Given the description of an element on the screen output the (x, y) to click on. 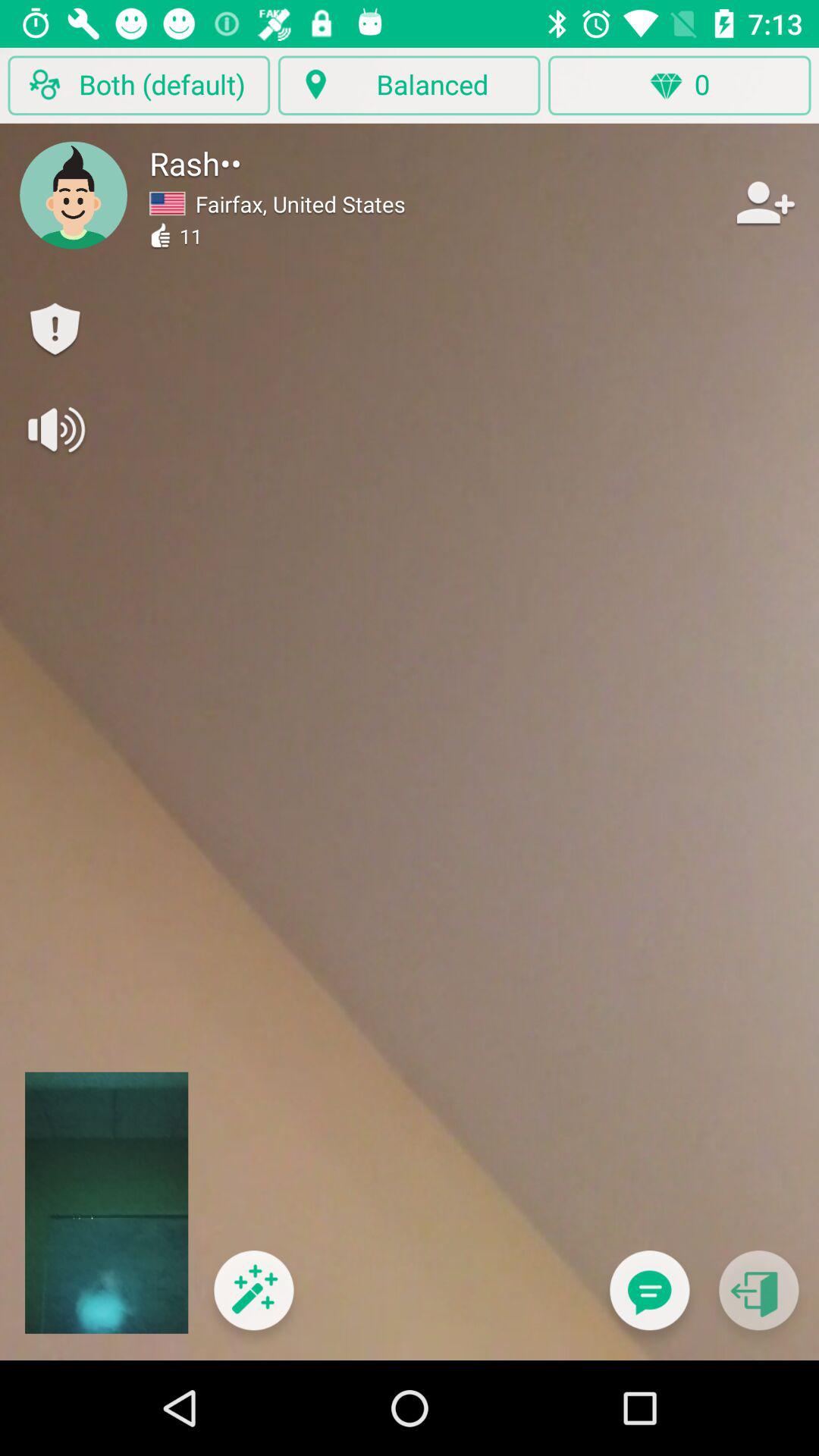
select item to the right of fairfax, united states (763, 202)
